Given the description of an element on the screen output the (x, y) to click on. 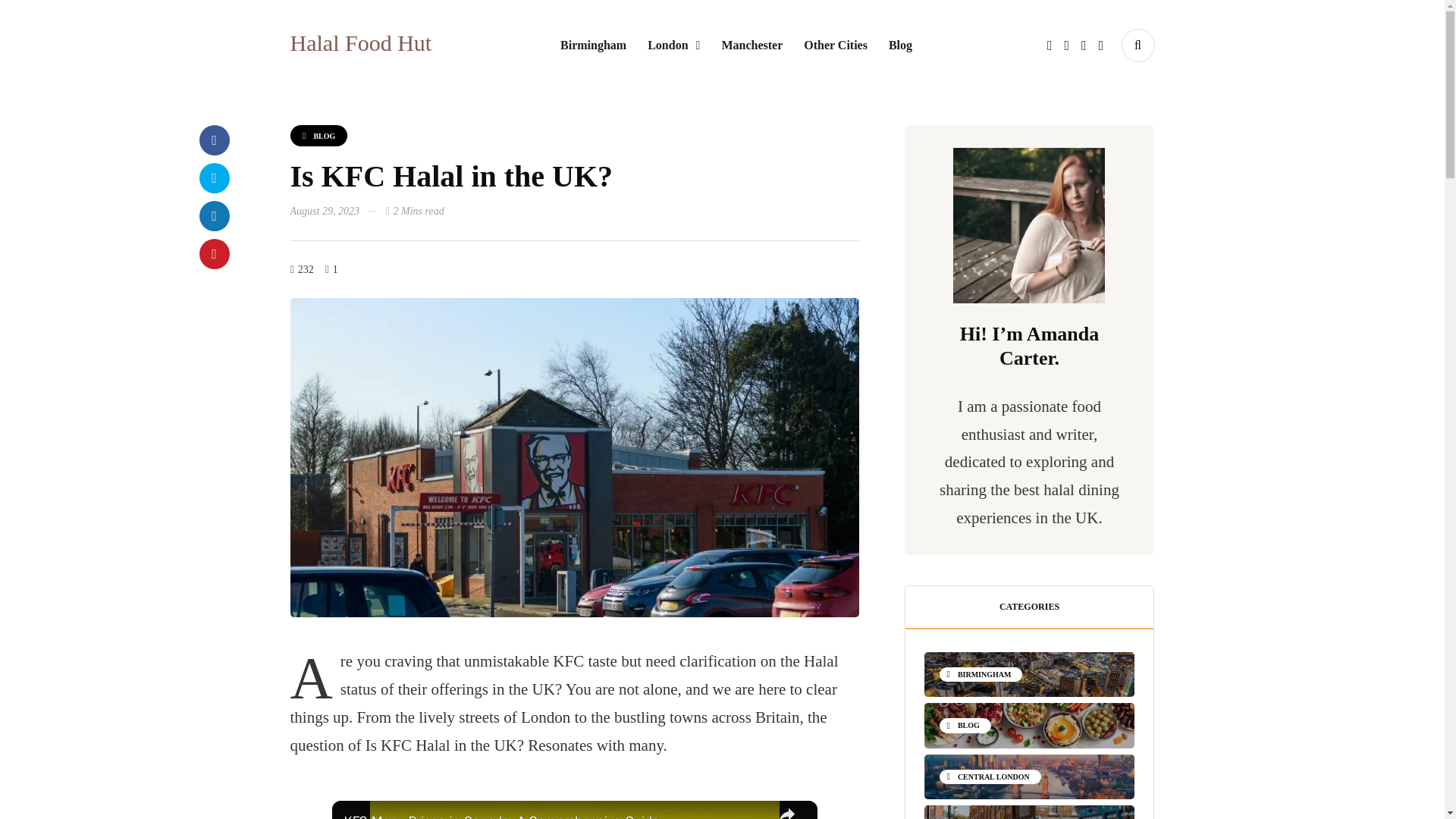
Other Cities (835, 45)
Birmingham (593, 45)
Halal Food Hut (359, 42)
London (673, 45)
BLOG (317, 135)
Manchester (751, 45)
Blog (900, 45)
Share with Facebook (213, 140)
share (786, 809)
